Given the description of an element on the screen output the (x, y) to click on. 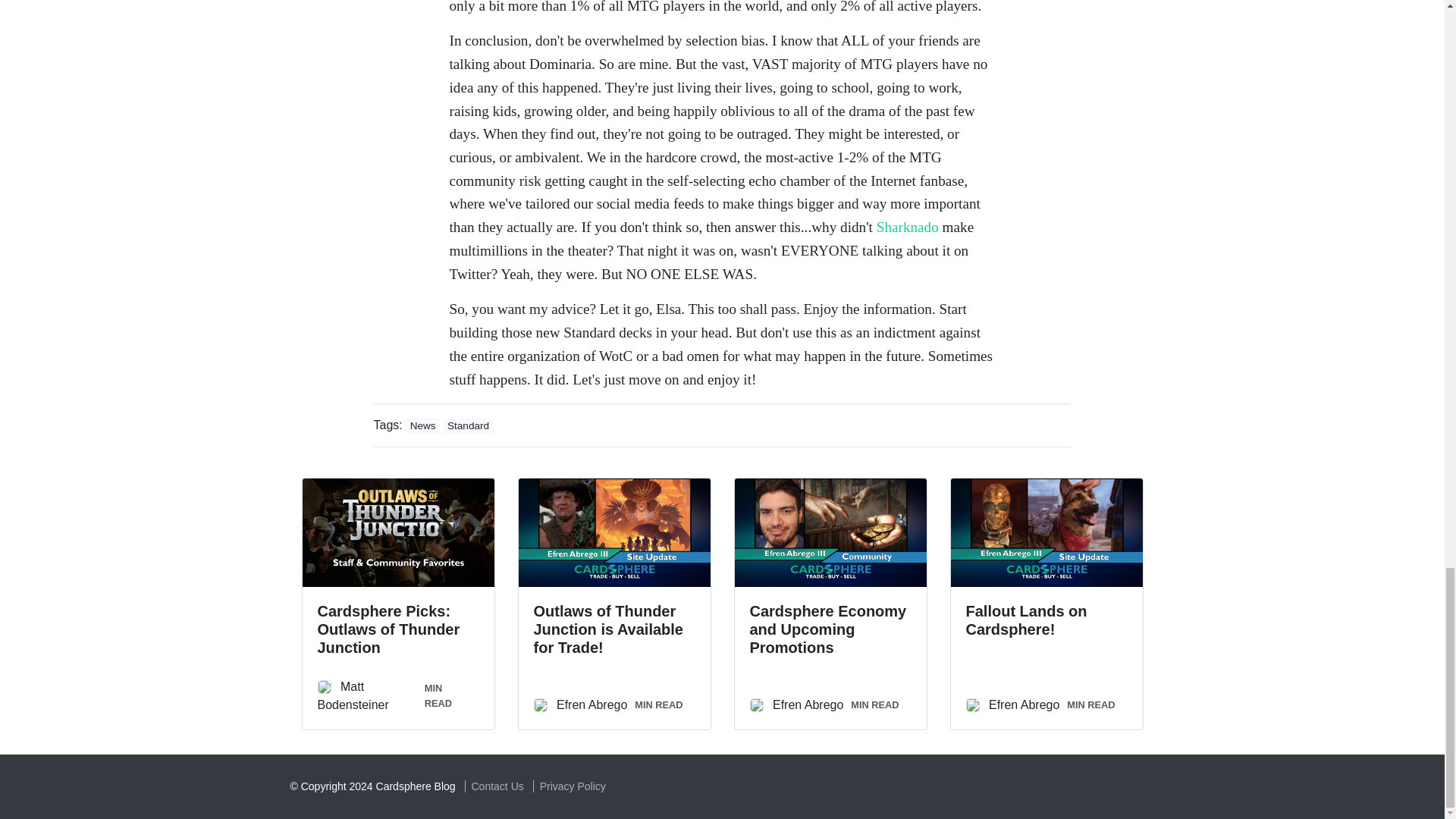
Standard (468, 426)
Matt Bodensteiner (352, 695)
Cardsphere Picks: Outlaws of Thunder Junction (388, 629)
Efren Abrego (808, 704)
Outlaws of Thunder Junction is Available for Trade! (608, 629)
News (422, 426)
Sharknado (907, 227)
Fallout Lands on Cardsphere! (1026, 620)
Efren Abrego (1023, 704)
Cardsphere Economy and Upcoming Promotions (827, 629)
